Given the description of an element on the screen output the (x, y) to click on. 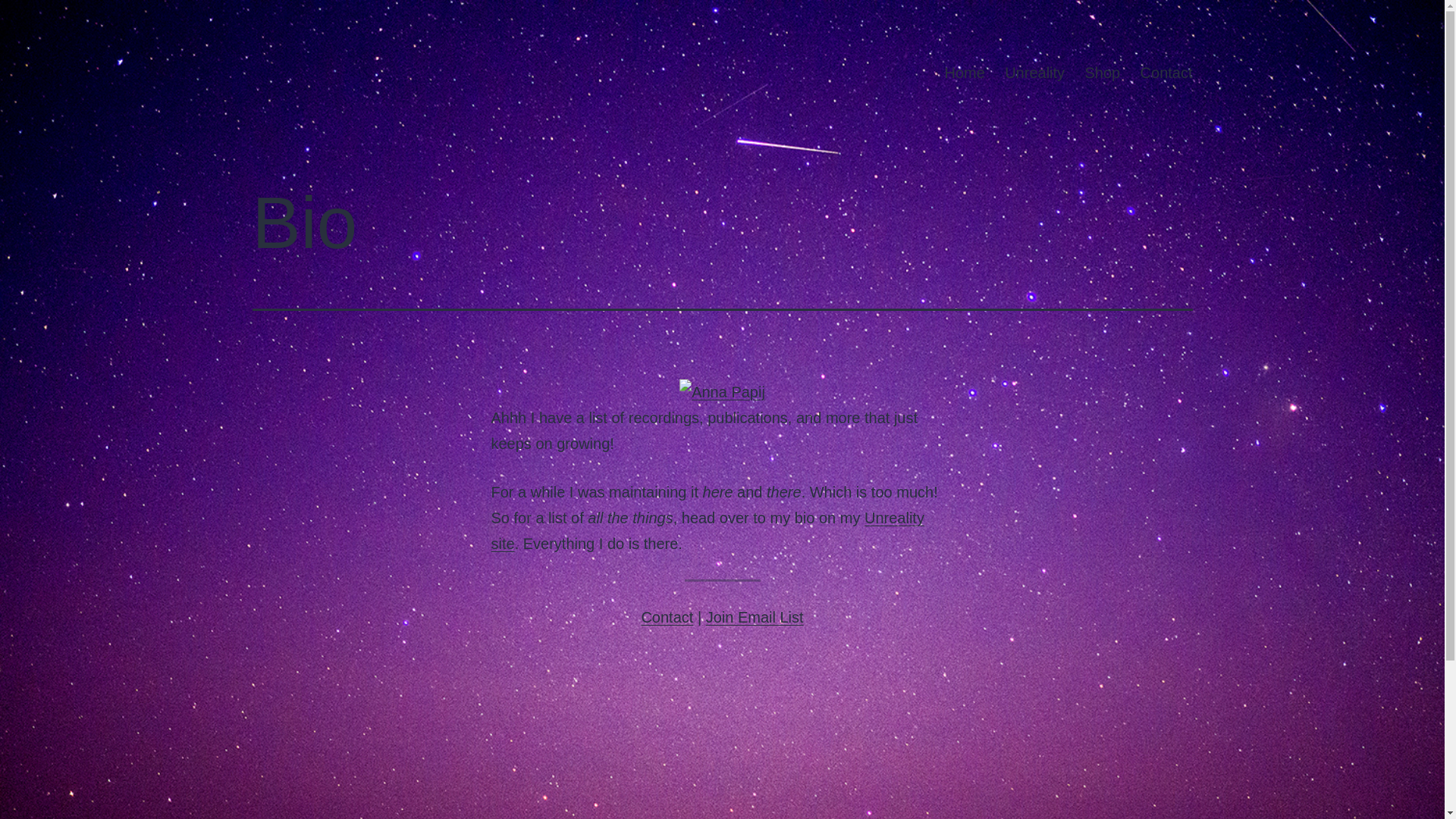
Home (964, 72)
Unreality (1034, 72)
Contact (666, 617)
Contact (1165, 72)
Join Email List (754, 617)
Shop (1101, 72)
Unreality site (708, 530)
